Given the description of an element on the screen output the (x, y) to click on. 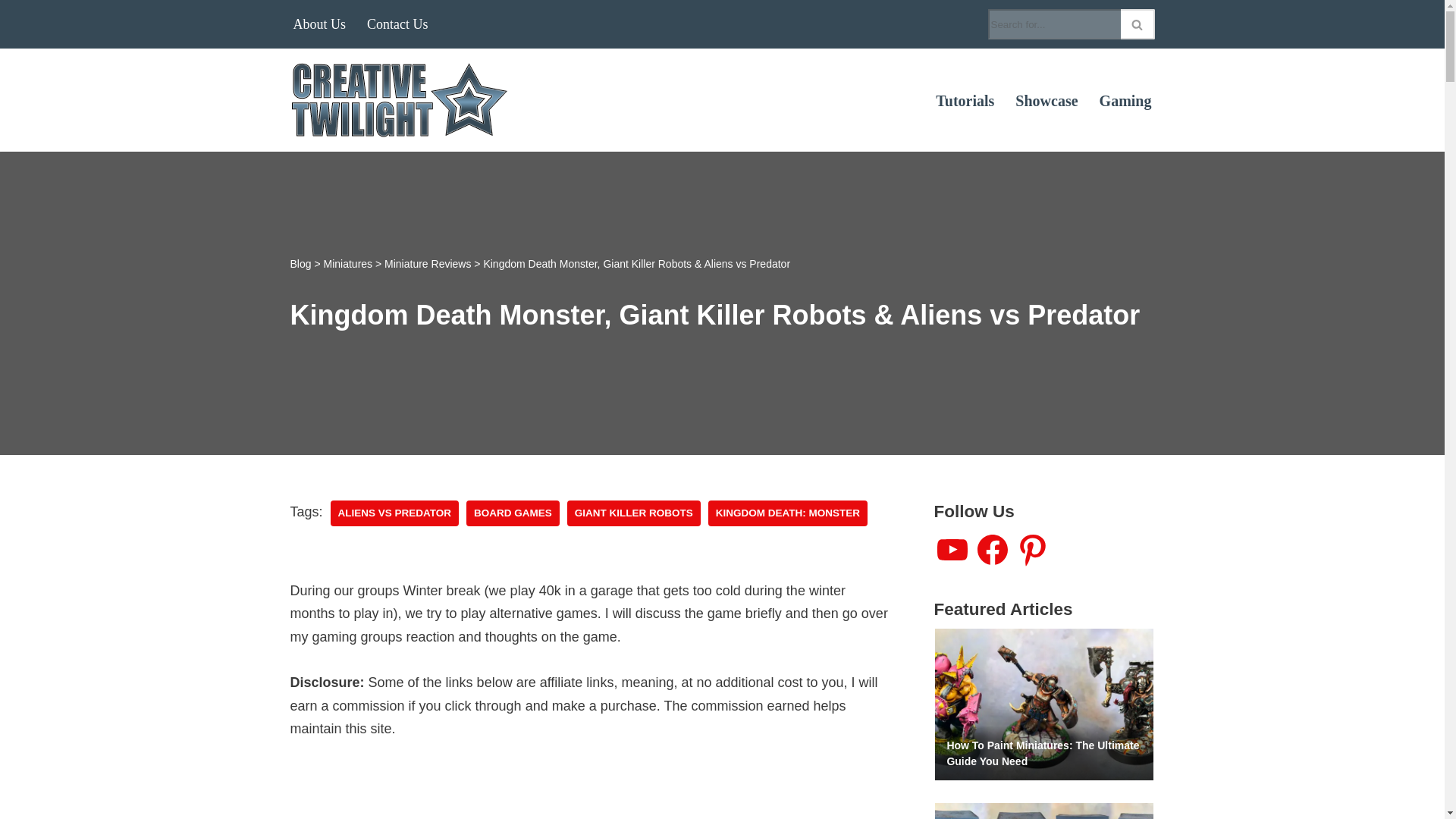
Tutorials (965, 100)
Miniature Reviews (427, 263)
Showcase (1045, 100)
Miniatures (347, 263)
Step-by-step articles (965, 100)
BOARD GAMES (512, 513)
Giant Killer Robots (633, 513)
Aliens vs Predator (395, 513)
Contact Us (397, 24)
Advertisement (588, 798)
Kingdom Death: Monster (787, 513)
ALIENS VS PREDATOR (395, 513)
Gaming (1125, 100)
Board Games (512, 513)
Skip to content (11, 31)
